Given the description of an element on the screen output the (x, y) to click on. 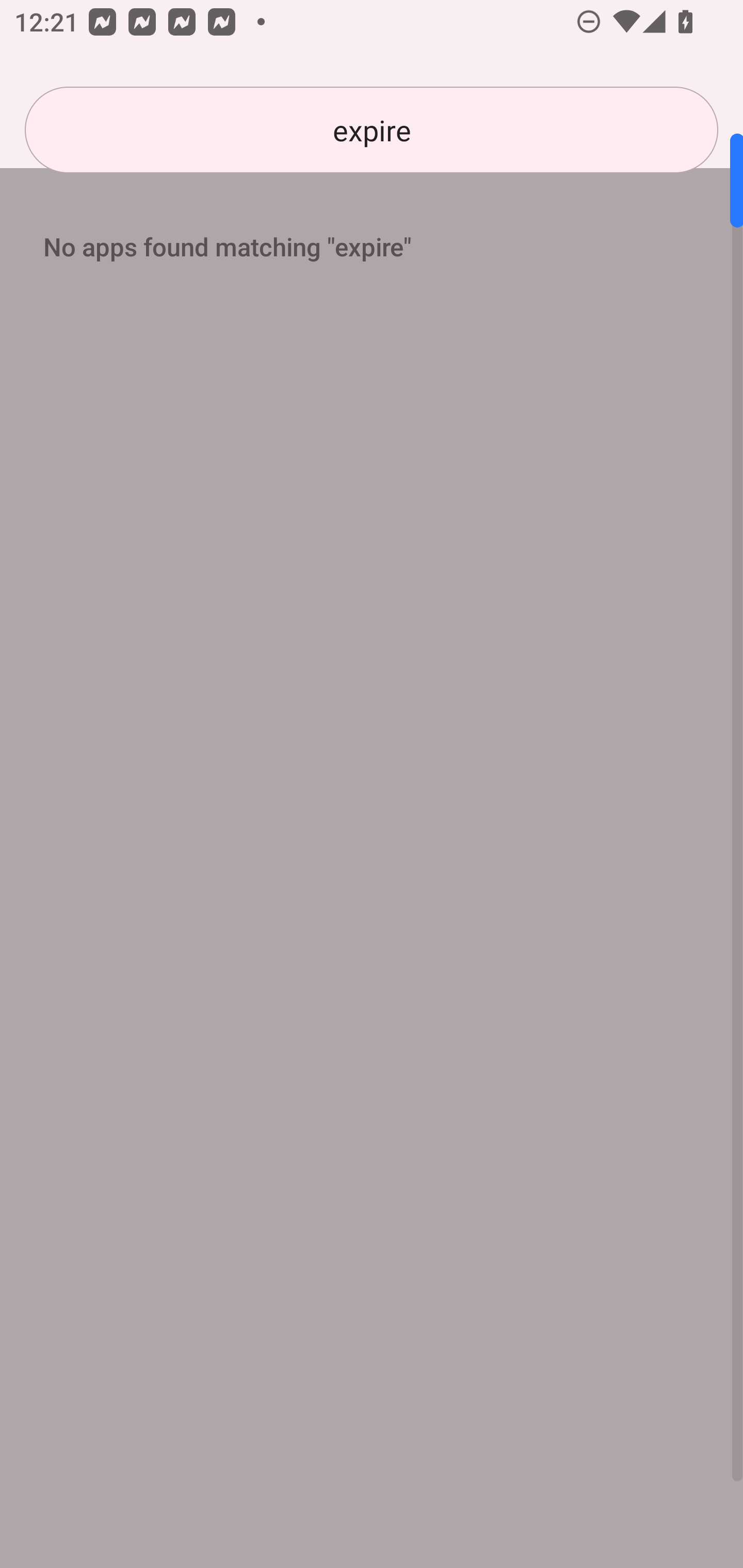
expire (371, 130)
